Given the description of an element on the screen output the (x, y) to click on. 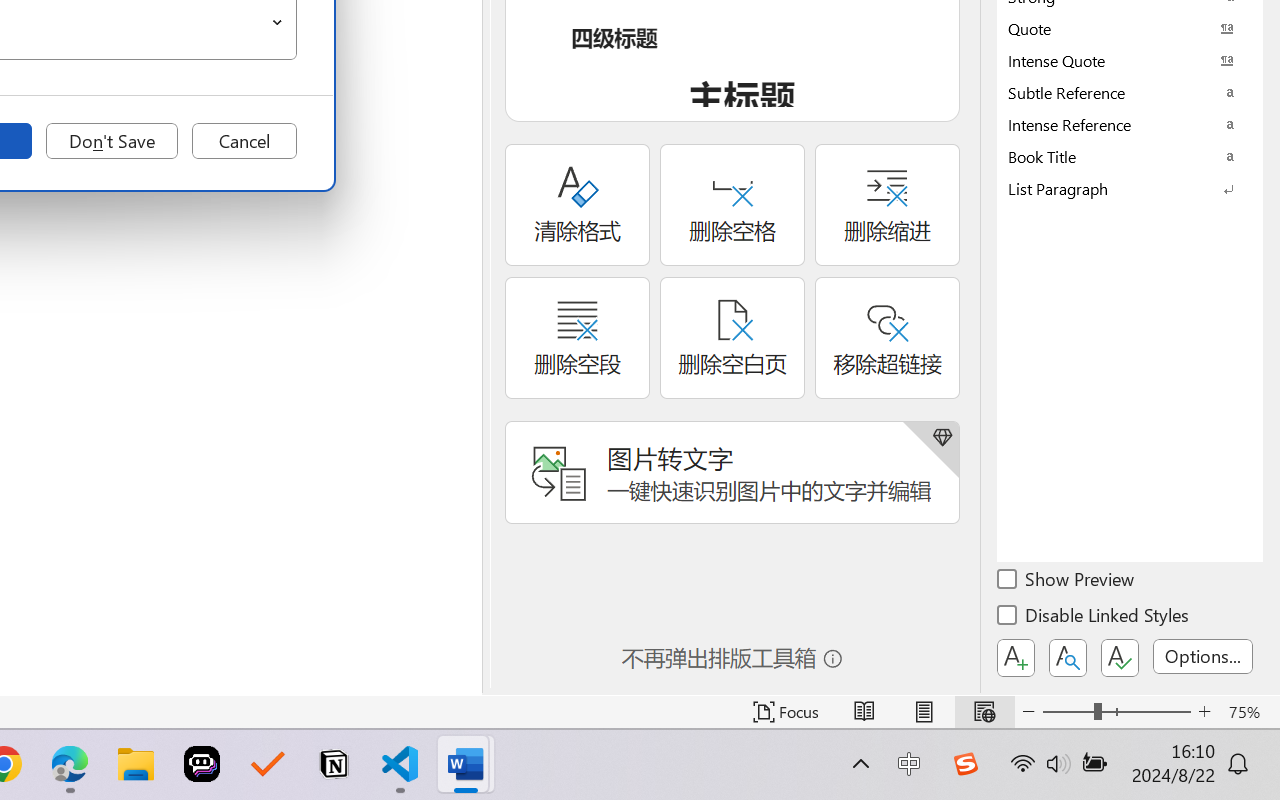
Intense Quote (1130, 60)
Zoom In (1204, 712)
Focus  (786, 712)
Class: NetUIImage (1116, 188)
